Given the description of an element on the screen output the (x, y) to click on. 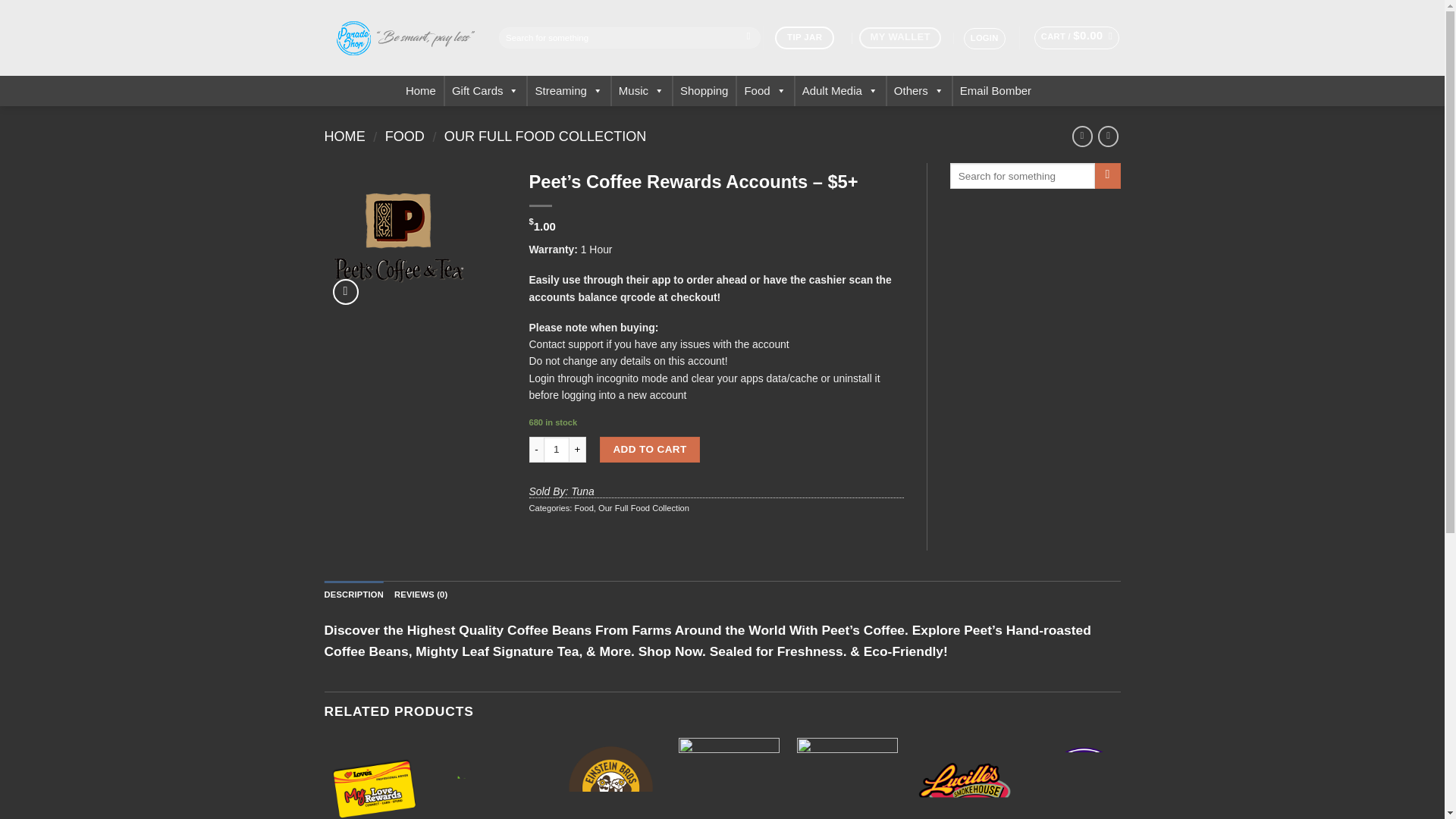
MY WALLET (904, 37)
Gift Cards (485, 91)
Others (919, 91)
Streaming (568, 91)
Qty (556, 449)
LOGIN (984, 38)
paradeshop -  (400, 38)
Zoom (345, 291)
Adult Media (839, 91)
Shopping (703, 91)
TIP JAR (804, 37)
Tuna (582, 491)
Music (641, 91)
1 (556, 449)
Home (420, 91)
